Given the description of an element on the screen output the (x, y) to click on. 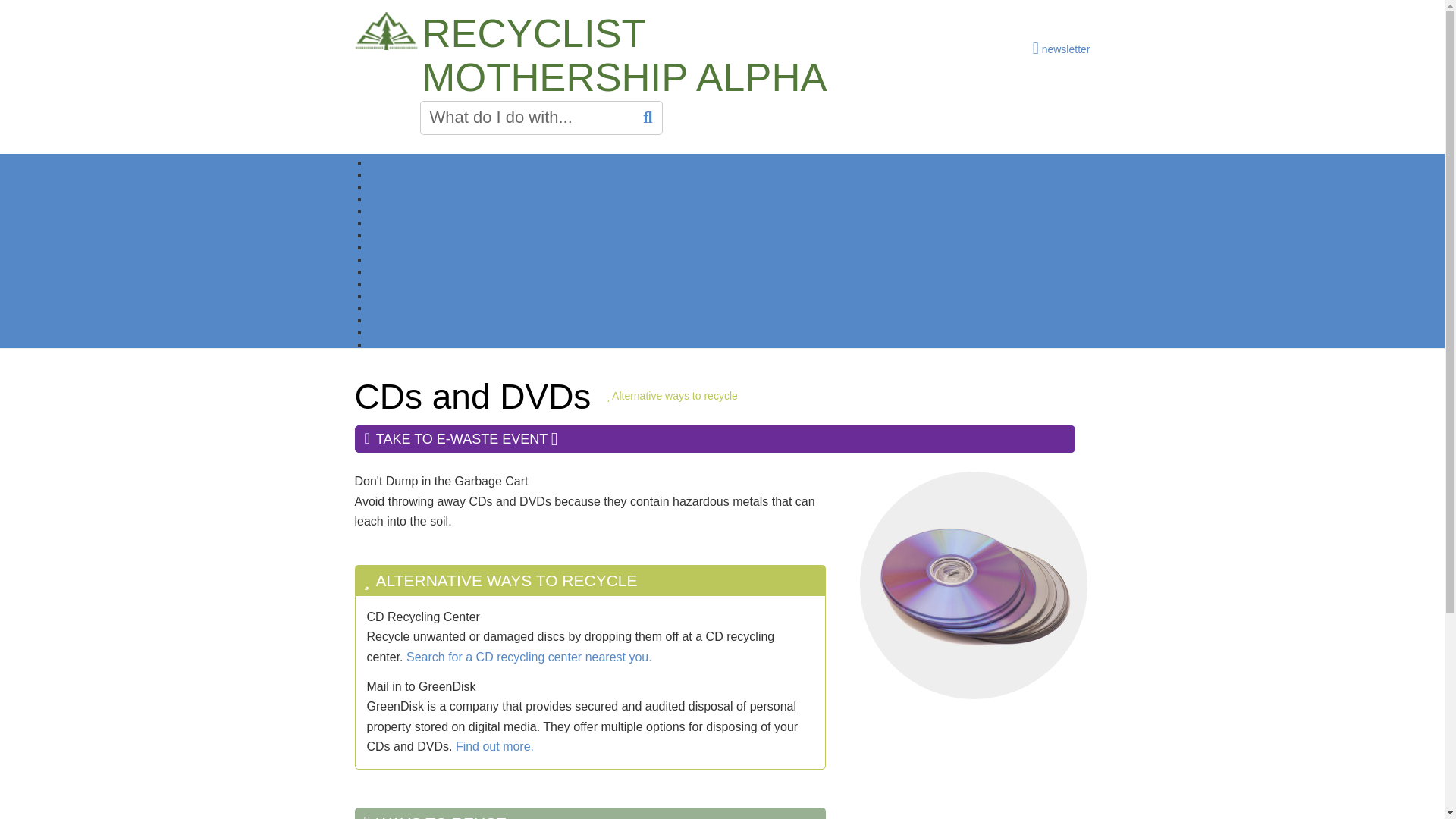
RECYCLIST MOTHERSHIP ALPHA (628, 55)
Search (650, 117)
TAKE TO E-WASTE EVENT (715, 438)
newsletter (1061, 47)
